Given the description of an element on the screen output the (x, y) to click on. 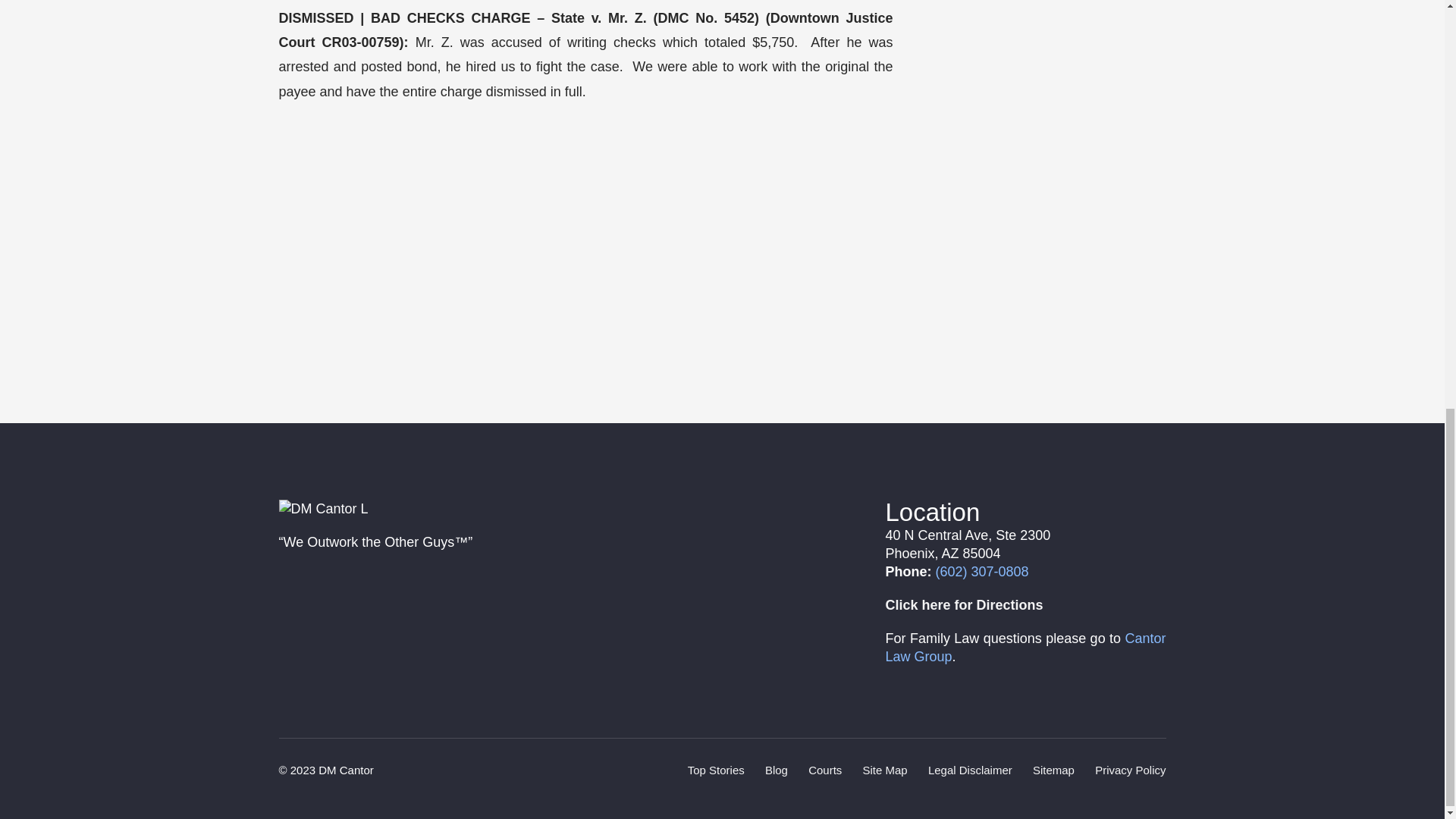
Blog (776, 769)
Site Map (885, 769)
Click here for Directions (964, 604)
Click here for Directions (964, 604)
Top Stories (715, 769)
Cantor Law Group (1025, 647)
Legal Disclaimer (969, 769)
Top Stories (715, 769)
Courts (824, 769)
